Given the description of an element on the screen output the (x, y) to click on. 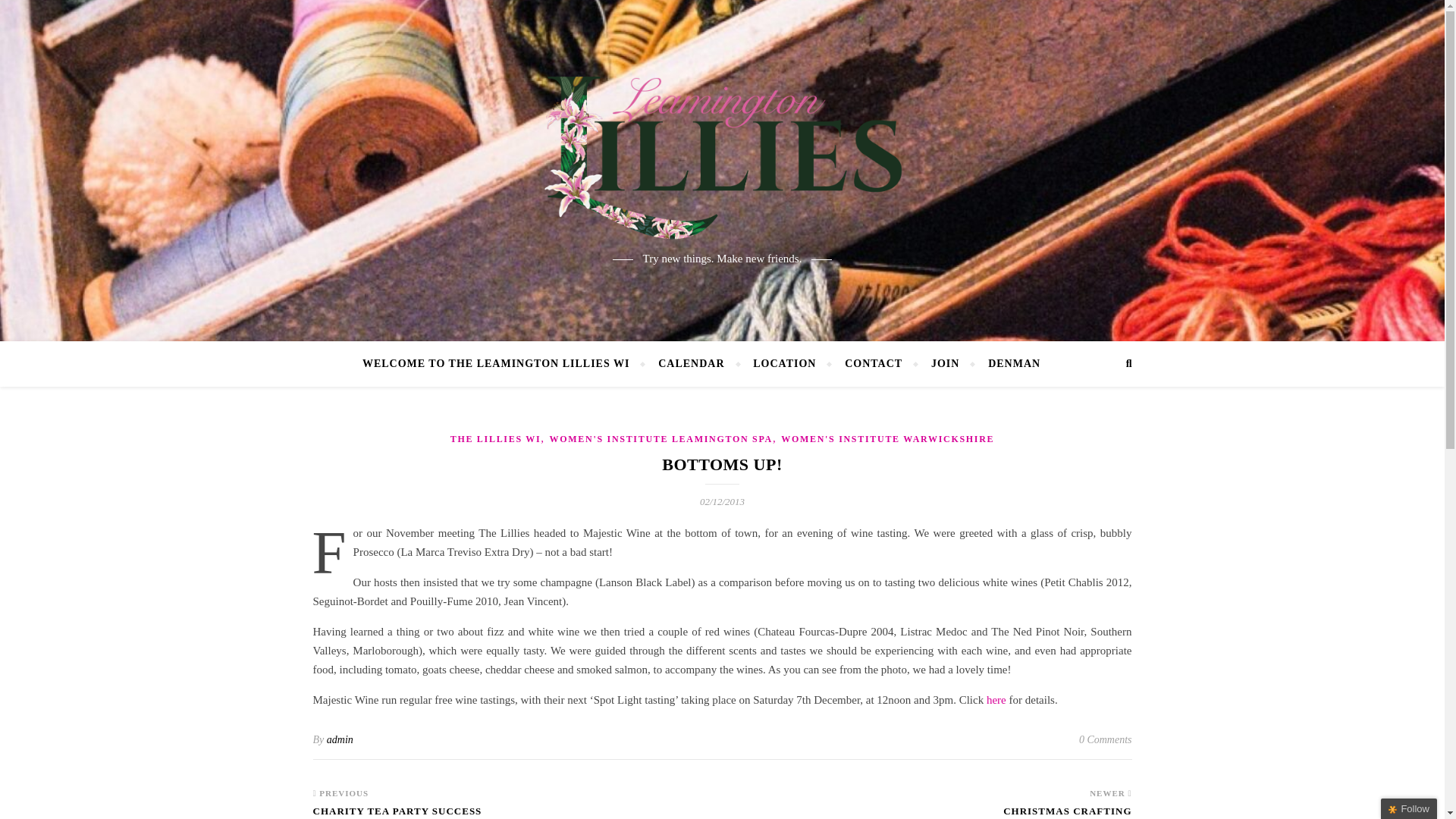
JOIN (945, 363)
admin (339, 739)
Charity tea party success (397, 810)
DENMAN (1008, 363)
Posts by admin (339, 739)
Christmas crafting (1067, 810)
CALENDAR (690, 363)
0 Comments (1105, 739)
WOMEN'S INSTITUTE LEAMINGTON SPA (661, 439)
WELCOME TO THE LEAMINGTON LILLIES WI (502, 363)
